Given the description of an element on the screen output the (x, y) to click on. 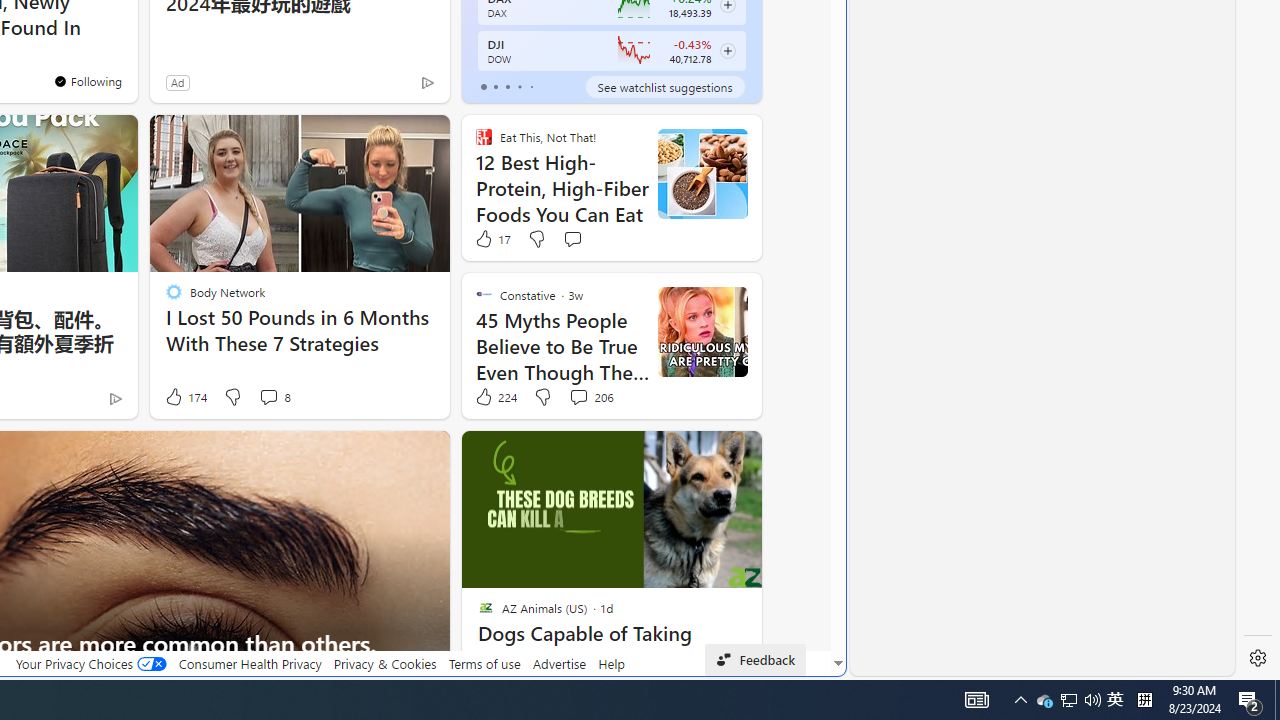
View comments 8 Comment (268, 396)
